Given the description of an element on the screen output the (x, y) to click on. 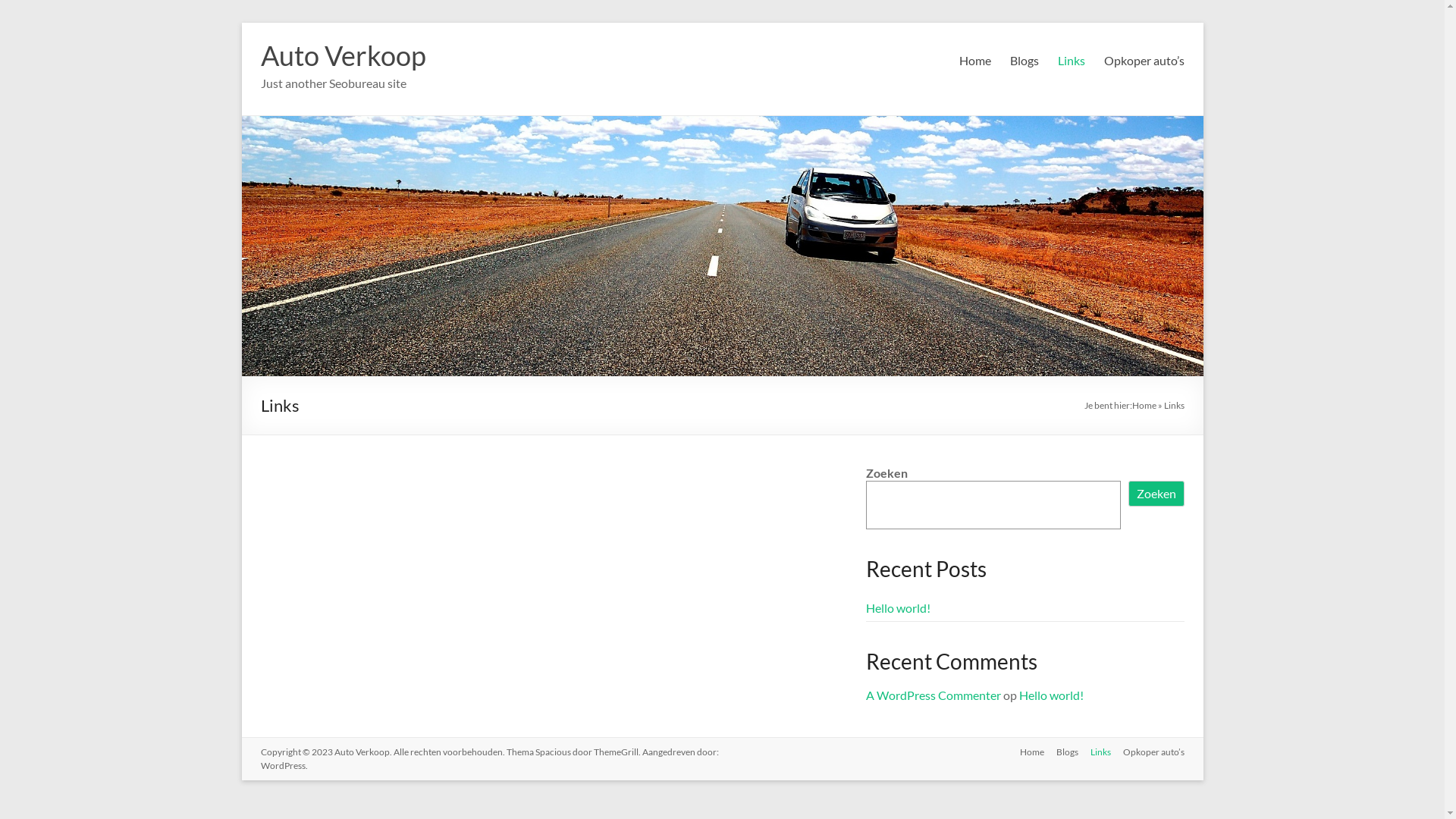
Home Element type: text (974, 60)
Hello world! Element type: text (898, 607)
Links Element type: text (1094, 753)
Home Element type: text (1025, 753)
Blogs Element type: text (1060, 753)
Hello world! Element type: text (1051, 694)
Zoeken Element type: text (1156, 493)
Auto Verkoop Element type: text (343, 55)
Blogs Element type: text (1024, 60)
Home Element type: text (1143, 405)
Ga naar inhoud Element type: text (241, 21)
Links Element type: text (1070, 60)
Auto Verkoop Element type: text (361, 751)
Spacious Element type: text (553, 751)
WordPress Element type: text (282, 765)
A WordPress Commenter Element type: text (933, 694)
